Given the description of an element on the screen output the (x, y) to click on. 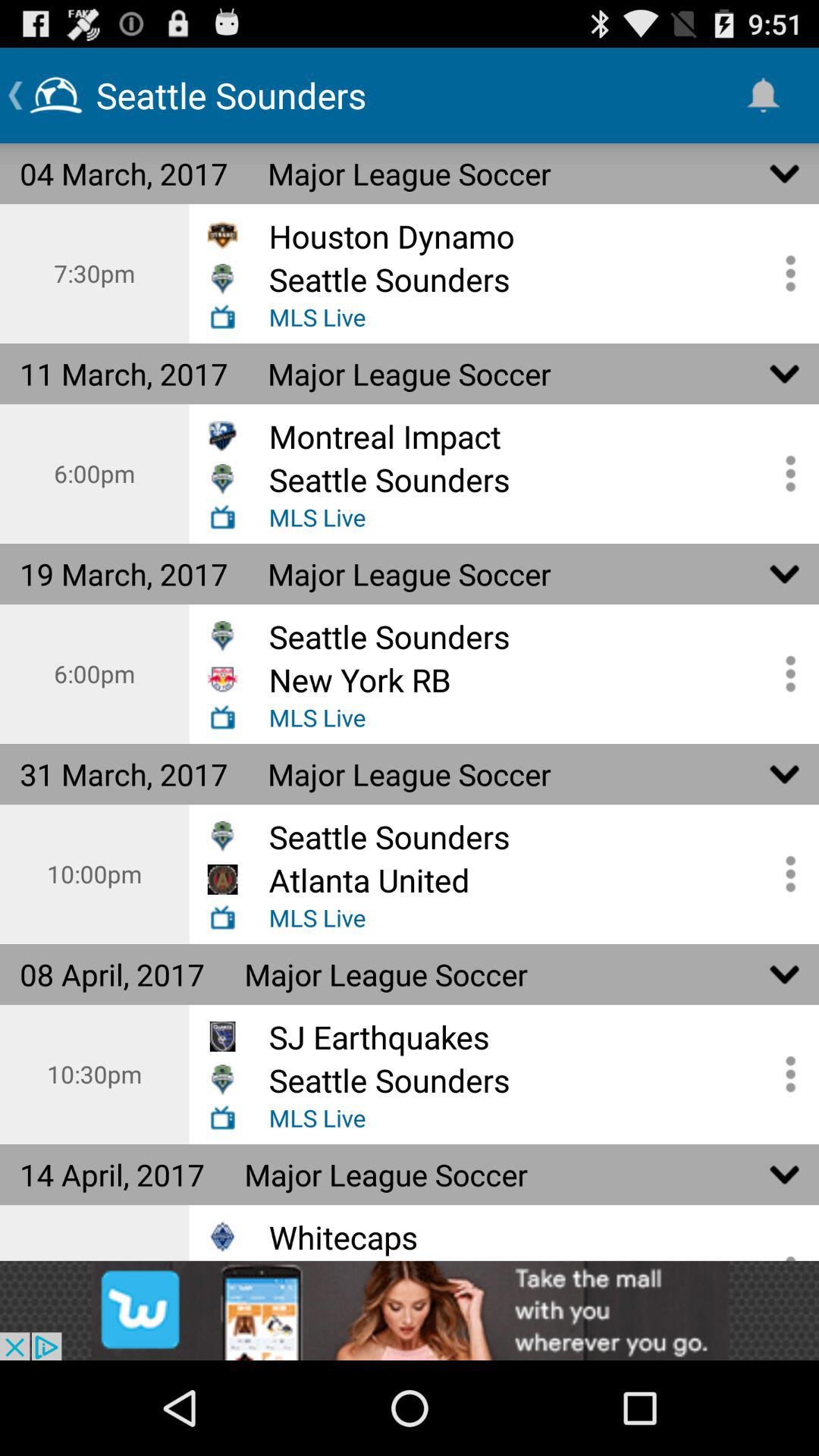
view more information (785, 1074)
